Given the description of an element on the screen output the (x, y) to click on. 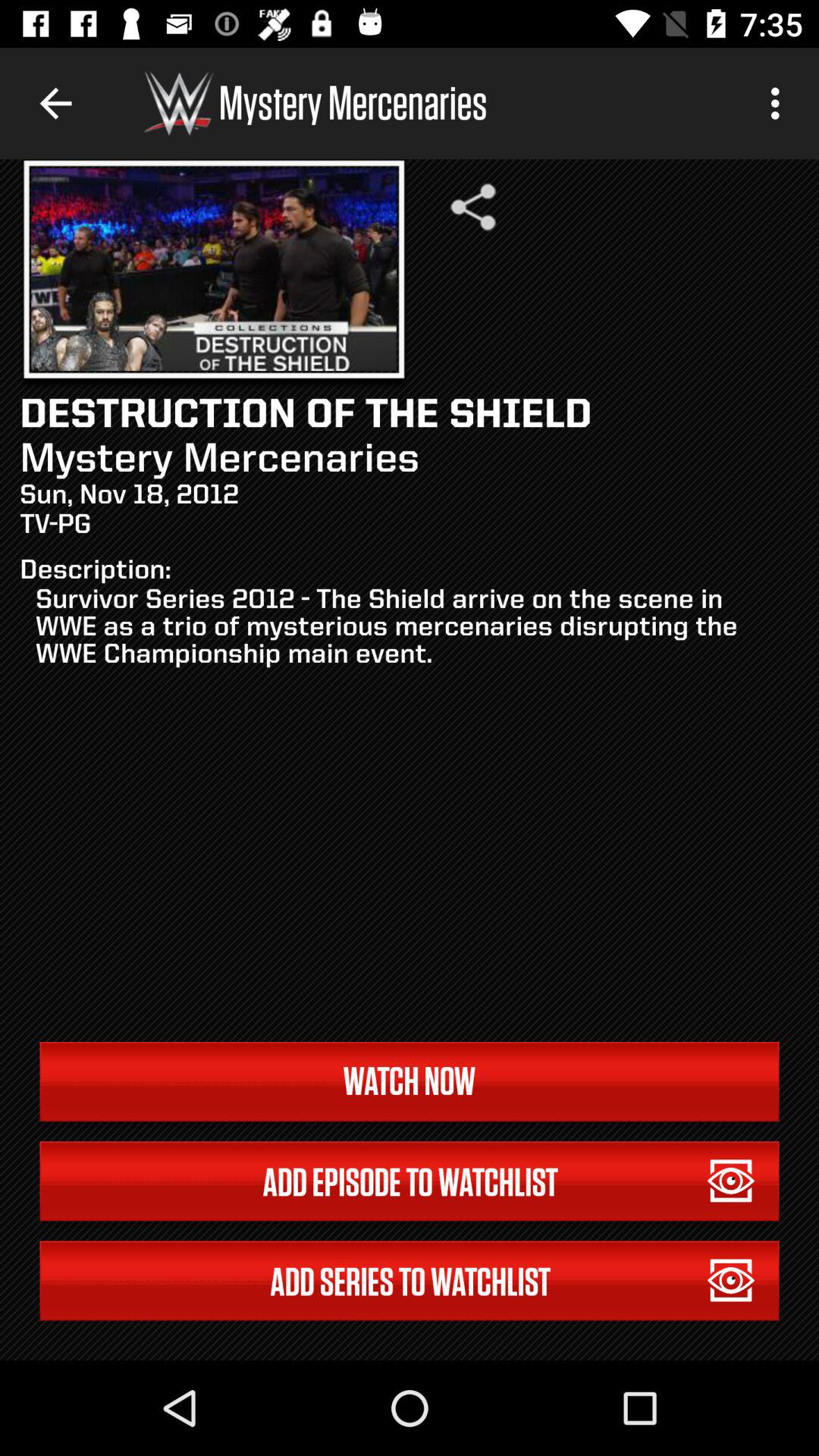
open the item at the top right corner (779, 103)
